Given the description of an element on the screen output the (x, y) to click on. 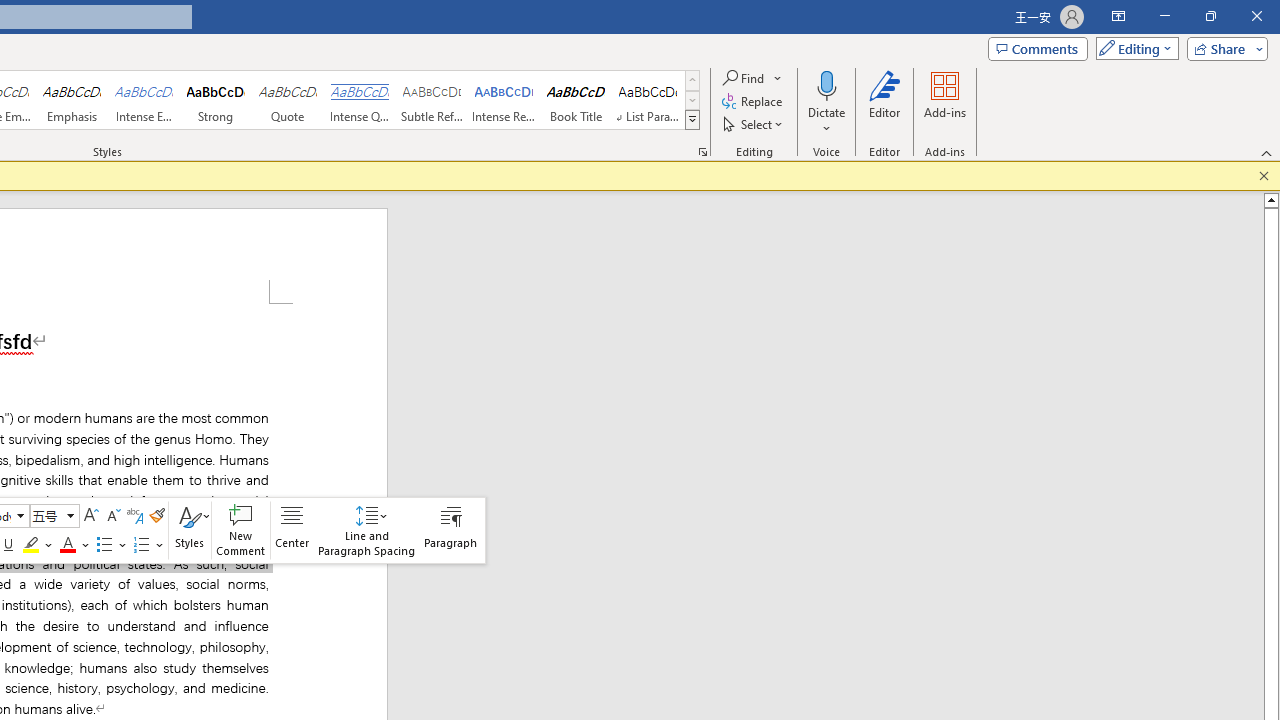
Class: NetUITextbox (45, 515)
Class: NetUIComboboxAnchor (54, 515)
Close this message (1263, 176)
